Given the description of an element on the screen output the (x, y) to click on. 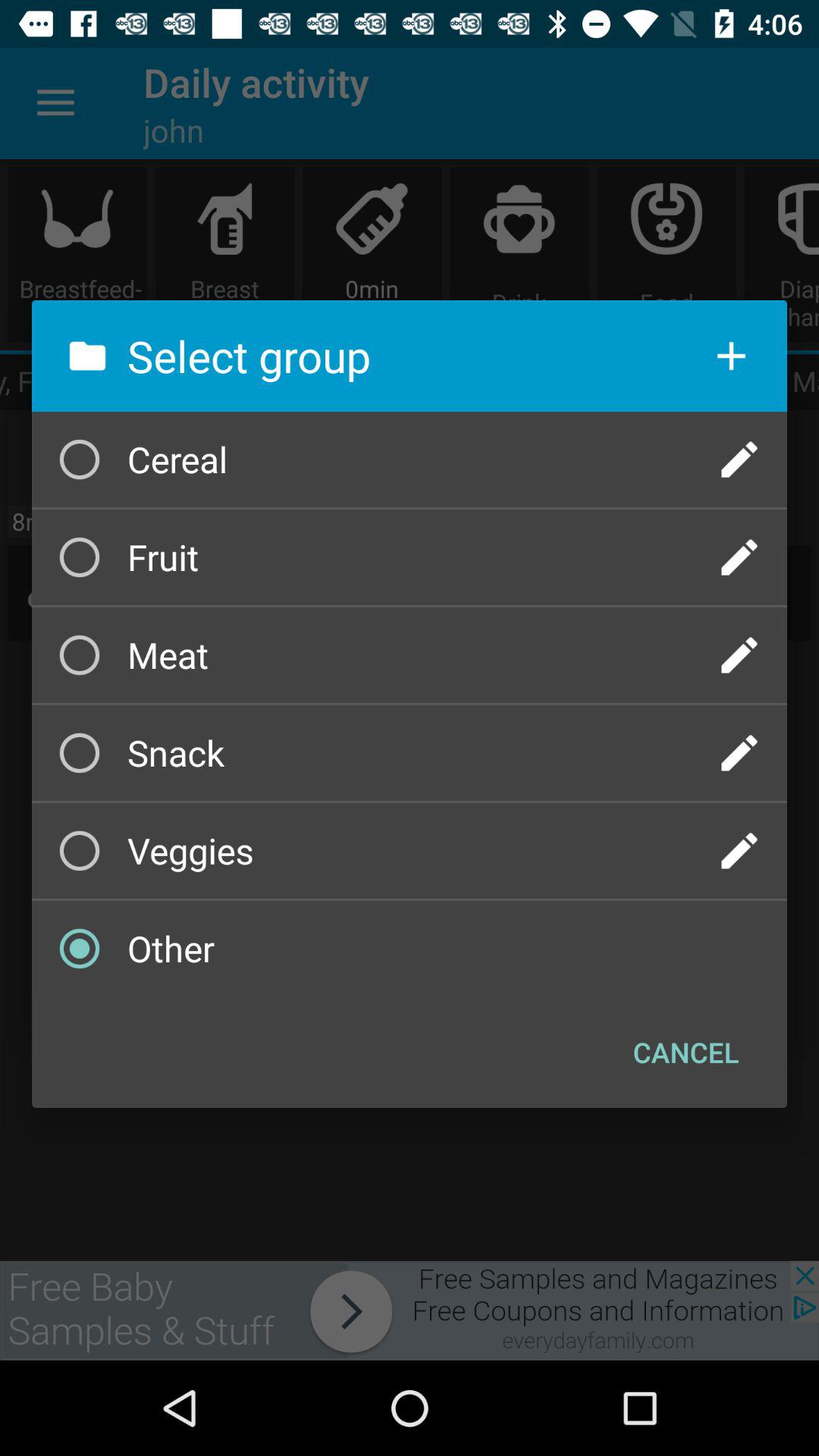
edit group (739, 557)
